Given the description of an element on the screen output the (x, y) to click on. 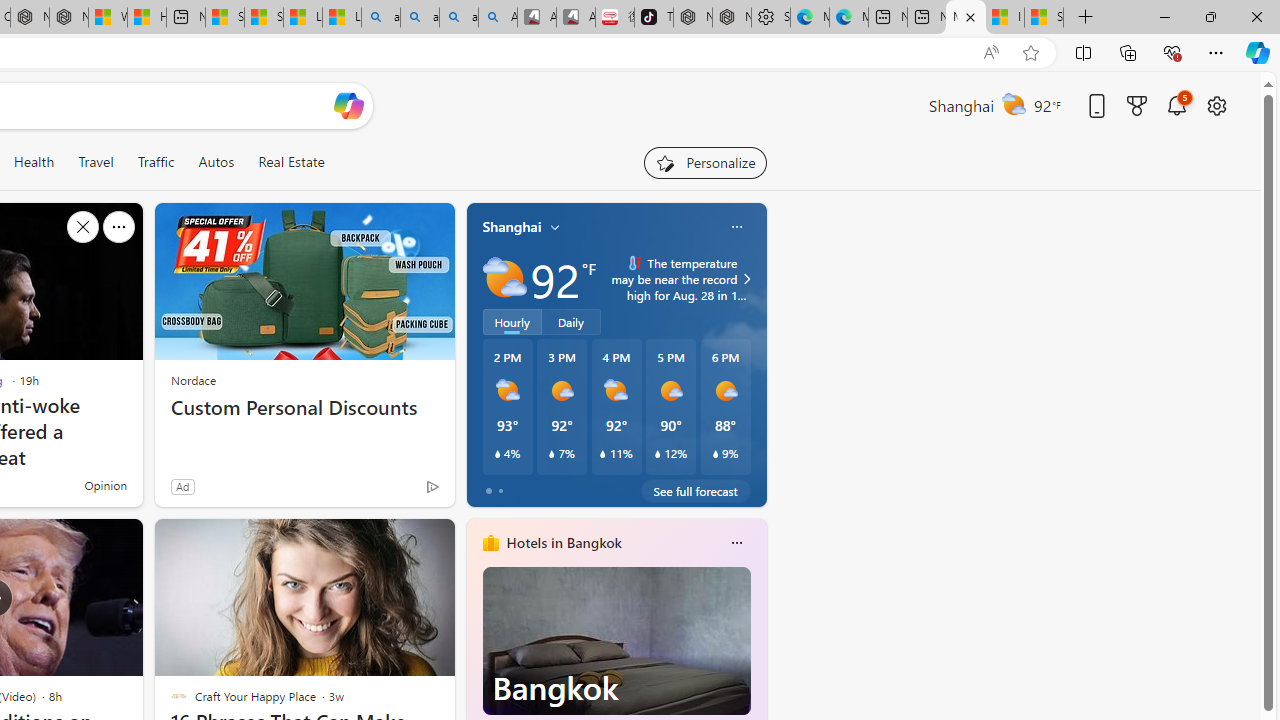
This story is trending (393, 490)
See full forecast (695, 490)
I Gained 20 Pounds of Muscle in 30 Days! | Watch (1004, 17)
Personalize your feed" (704, 162)
TikTok (653, 17)
